Given the description of an element on the screen output the (x, y) to click on. 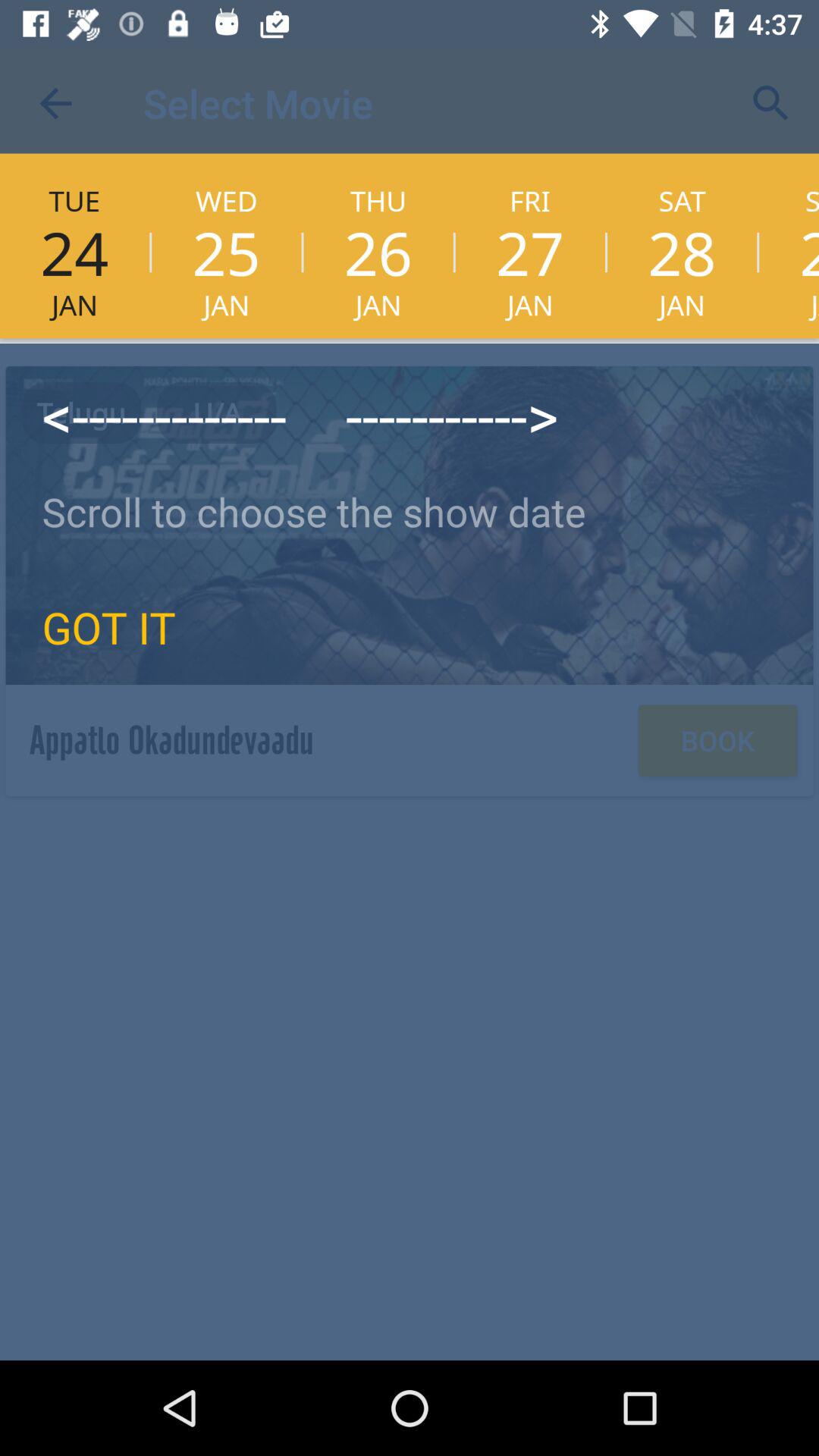
launch the app next to the select movie app (771, 103)
